Given the description of an element on the screen output the (x, y) to click on. 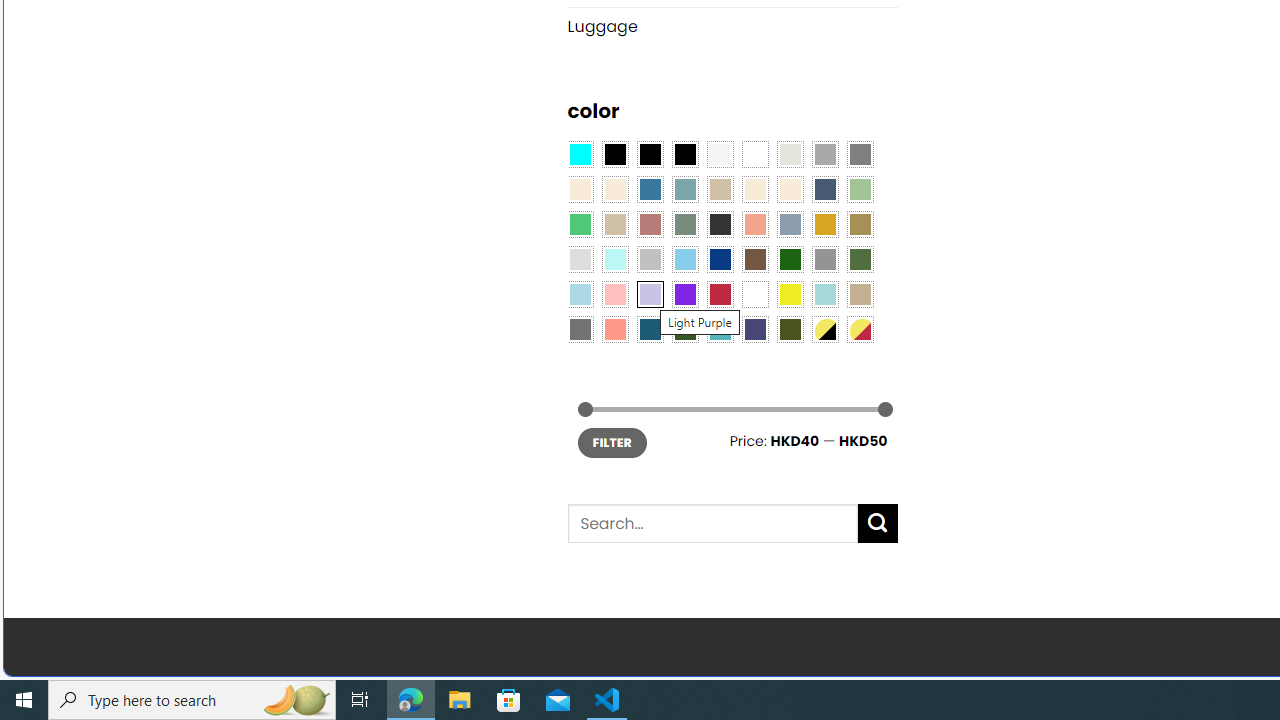
Brownie (719, 190)
Black (650, 154)
Light Gray (579, 259)
Red (719, 295)
Dark Green (789, 259)
Search for: (712, 523)
Black-Brown (684, 154)
Pink (614, 295)
Cream (789, 190)
Beige (579, 190)
Teal (719, 329)
Dark Gray (824, 154)
Navy Blue (719, 259)
Yellow-Red (859, 329)
Brown (755, 259)
